Given the description of an element on the screen output the (x, y) to click on. 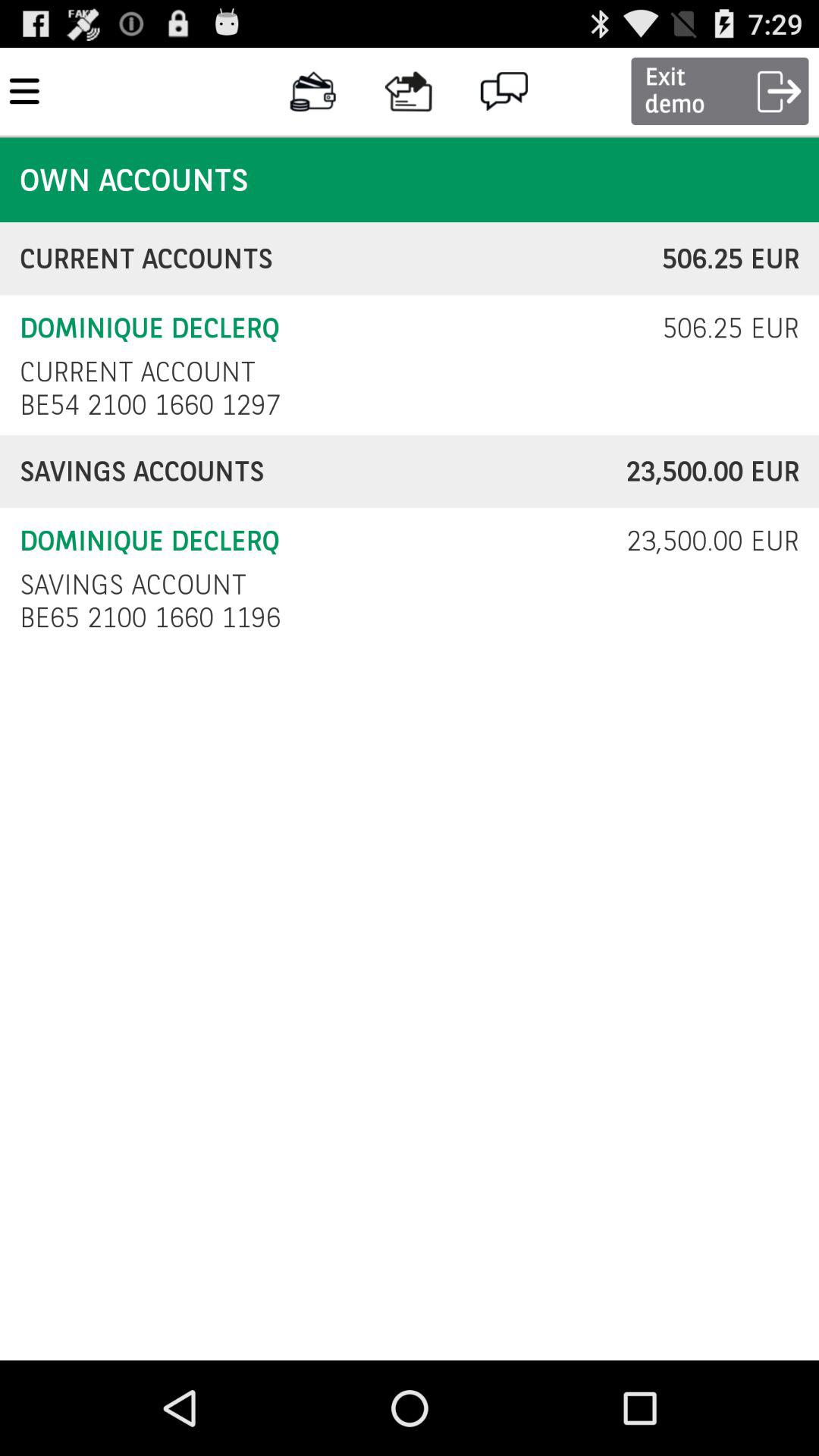
launch the checkbox below be54 2100 1660 icon (322, 471)
